Given the description of an element on the screen output the (x, y) to click on. 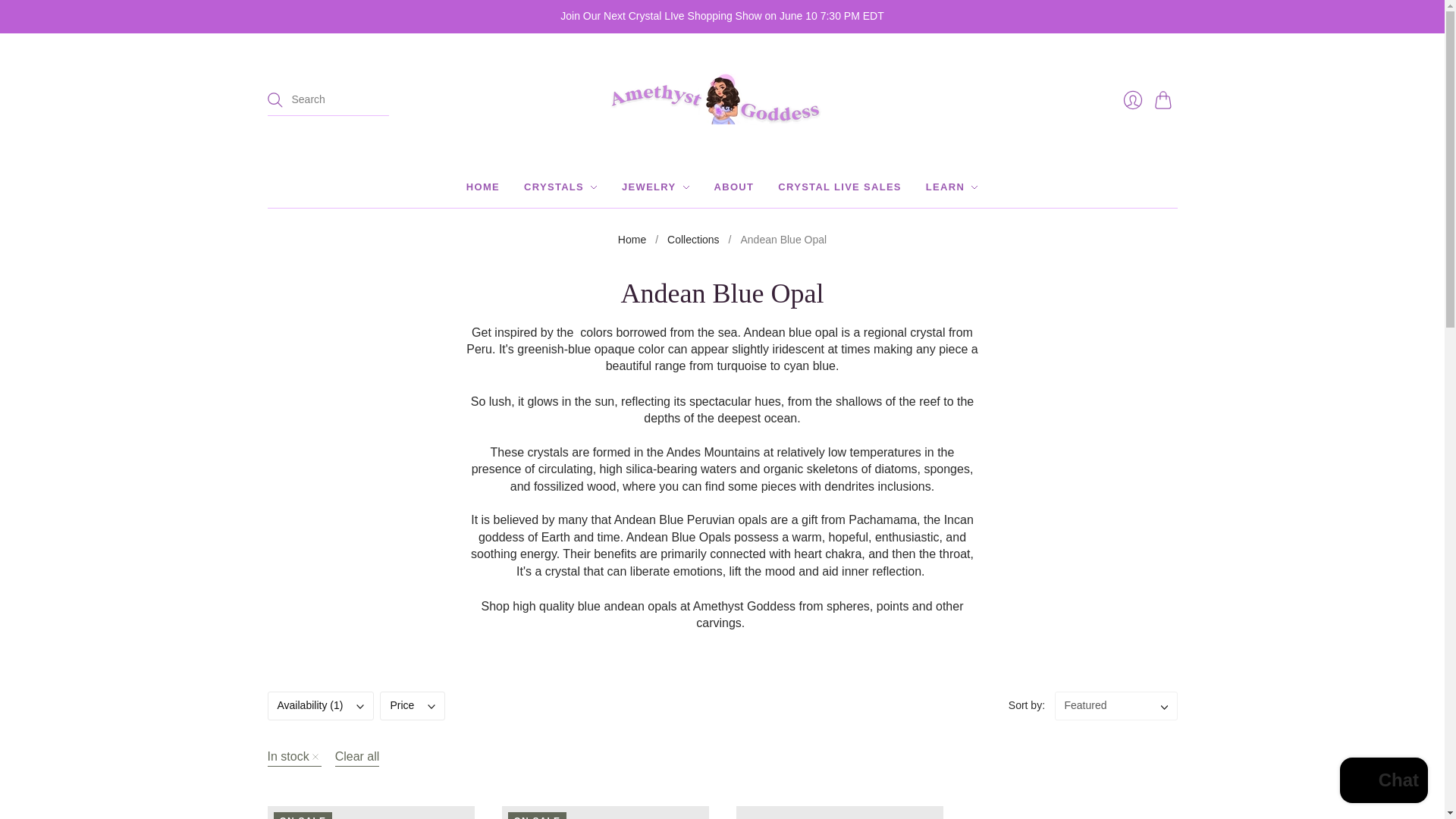
Cart (1165, 100)
ABOUT (734, 186)
Shopify online store chat (1383, 781)
Login (1132, 100)
CRYSTAL LIVE SALES (839, 186)
HOME (482, 186)
